Given the description of an element on the screen output the (x, y) to click on. 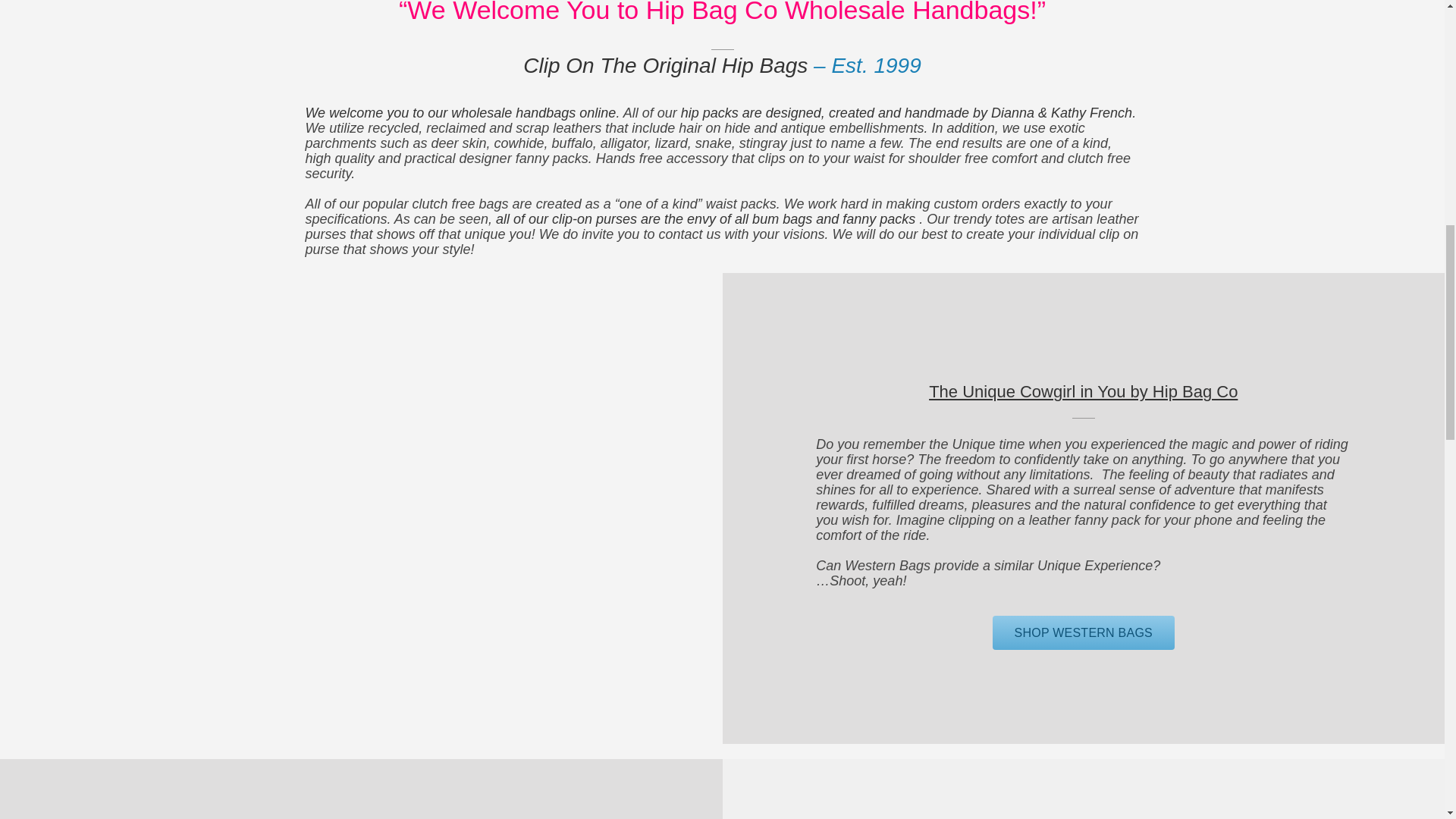
Wholesale Handbags (459, 112)
Hip Bags (665, 65)
Hip Bags (838, 12)
